Given the description of an element on the screen output the (x, y) to click on. 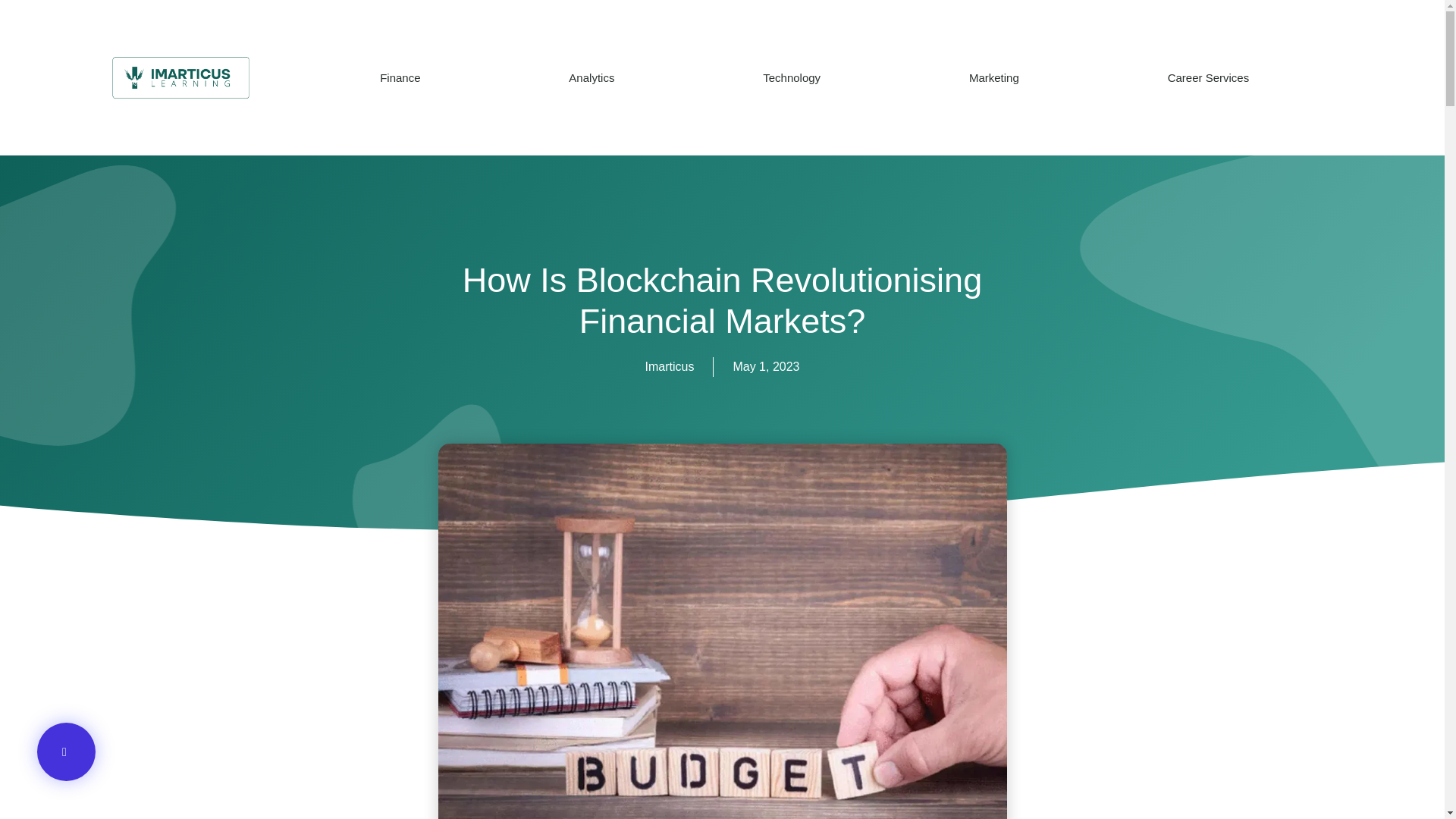
Analytics (591, 77)
May 1, 2023 (765, 366)
Finance (400, 77)
Career Services (1208, 77)
Imarticus (669, 366)
Marketing (994, 77)
Technology (791, 77)
